Given the description of an element on the screen output the (x, y) to click on. 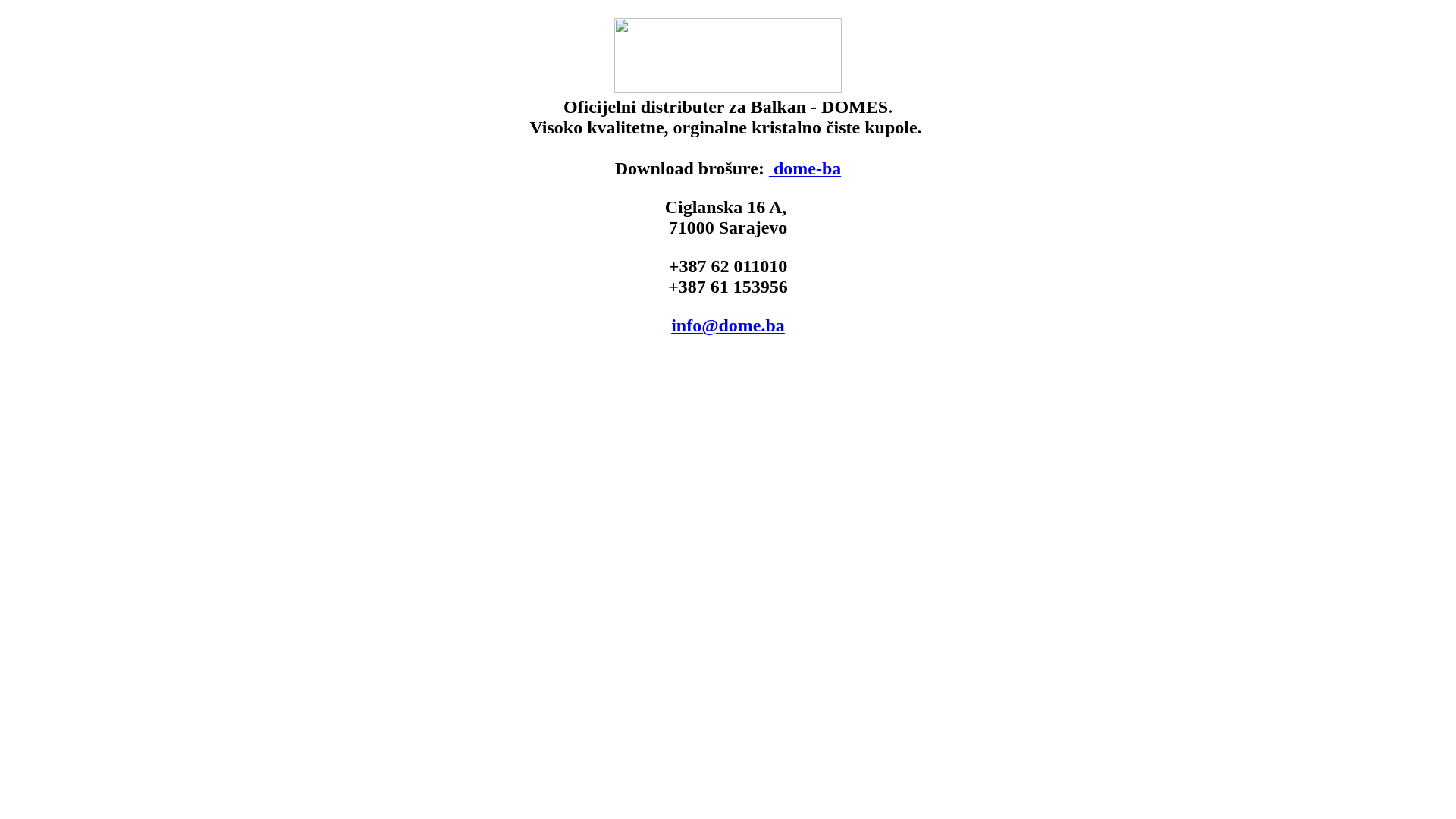
 dome-ba Element type: text (804, 168)
info@dome.ba Element type: text (727, 325)
